Given the description of an element on the screen output the (x, y) to click on. 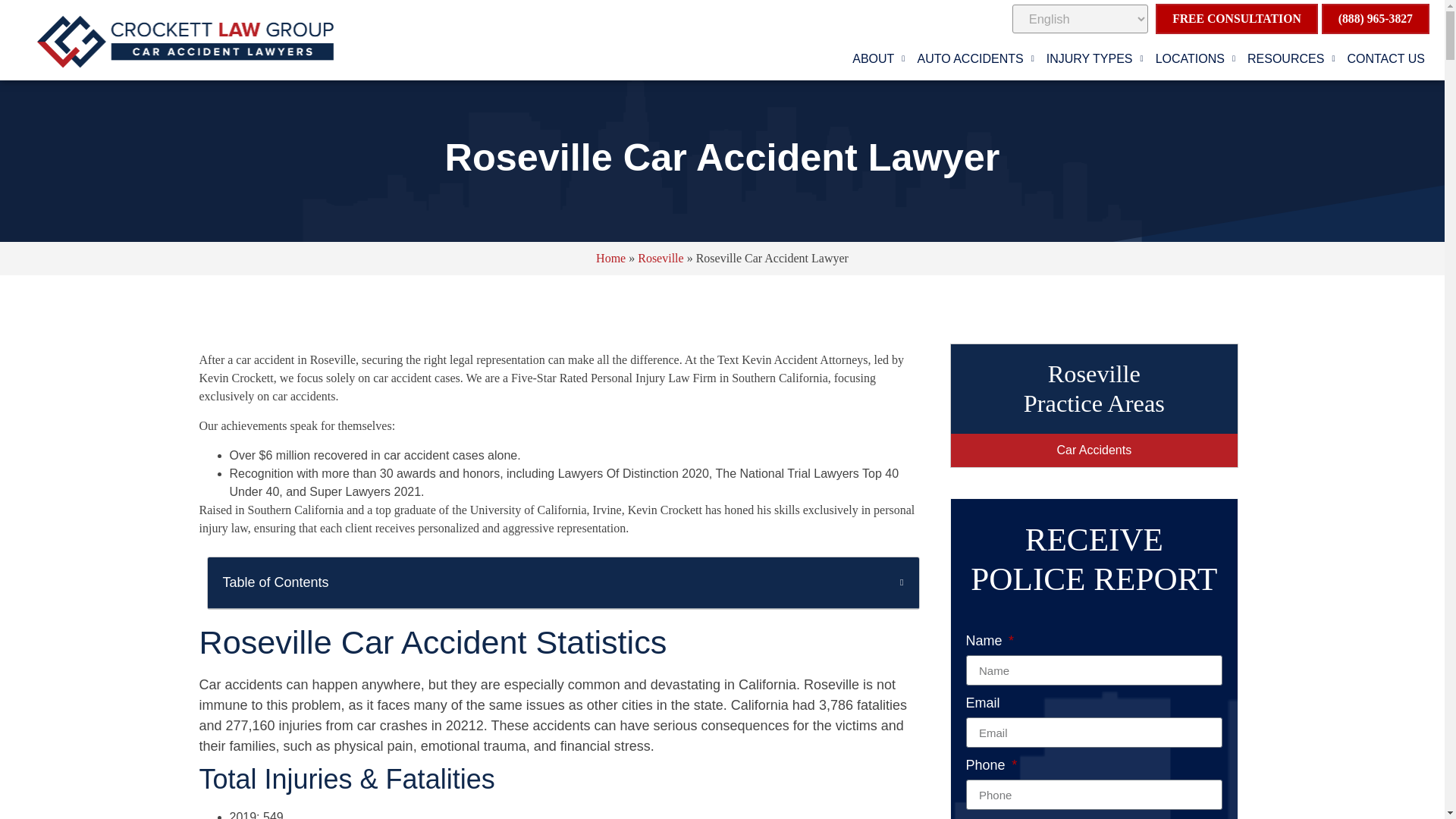
LOCATIONS (1195, 58)
RESOURCES (1291, 58)
AUTO ACCIDENTS (975, 58)
FREE CONSULTATION (1236, 19)
ABOUT (877, 58)
INJURY TYPES (1095, 58)
